Given the description of an element on the screen output the (x, y) to click on. 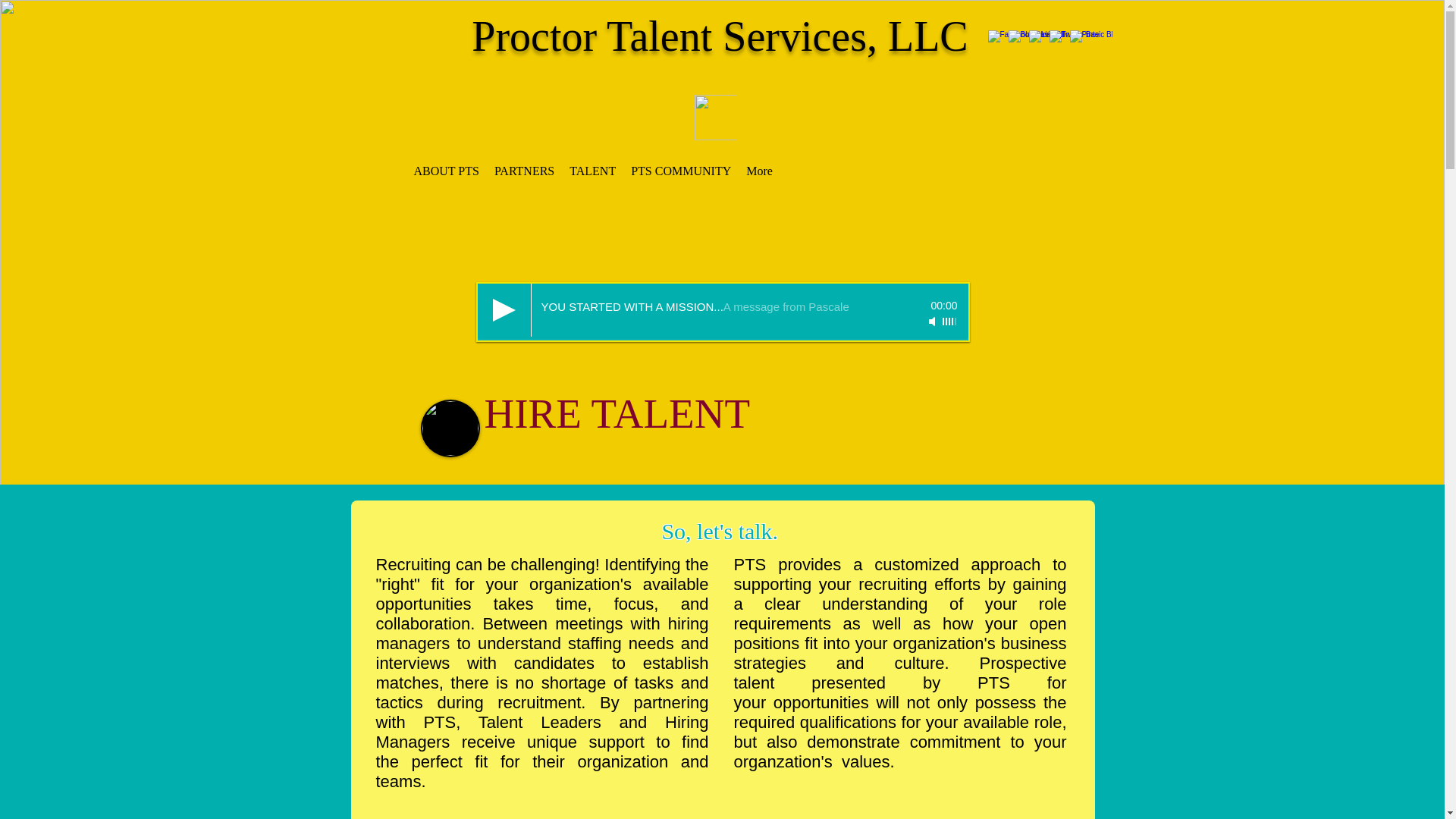
PARTNERS (524, 176)
TALENT (592, 176)
ABOUT PTS (446, 176)
